Given the description of an element on the screen output the (x, y) to click on. 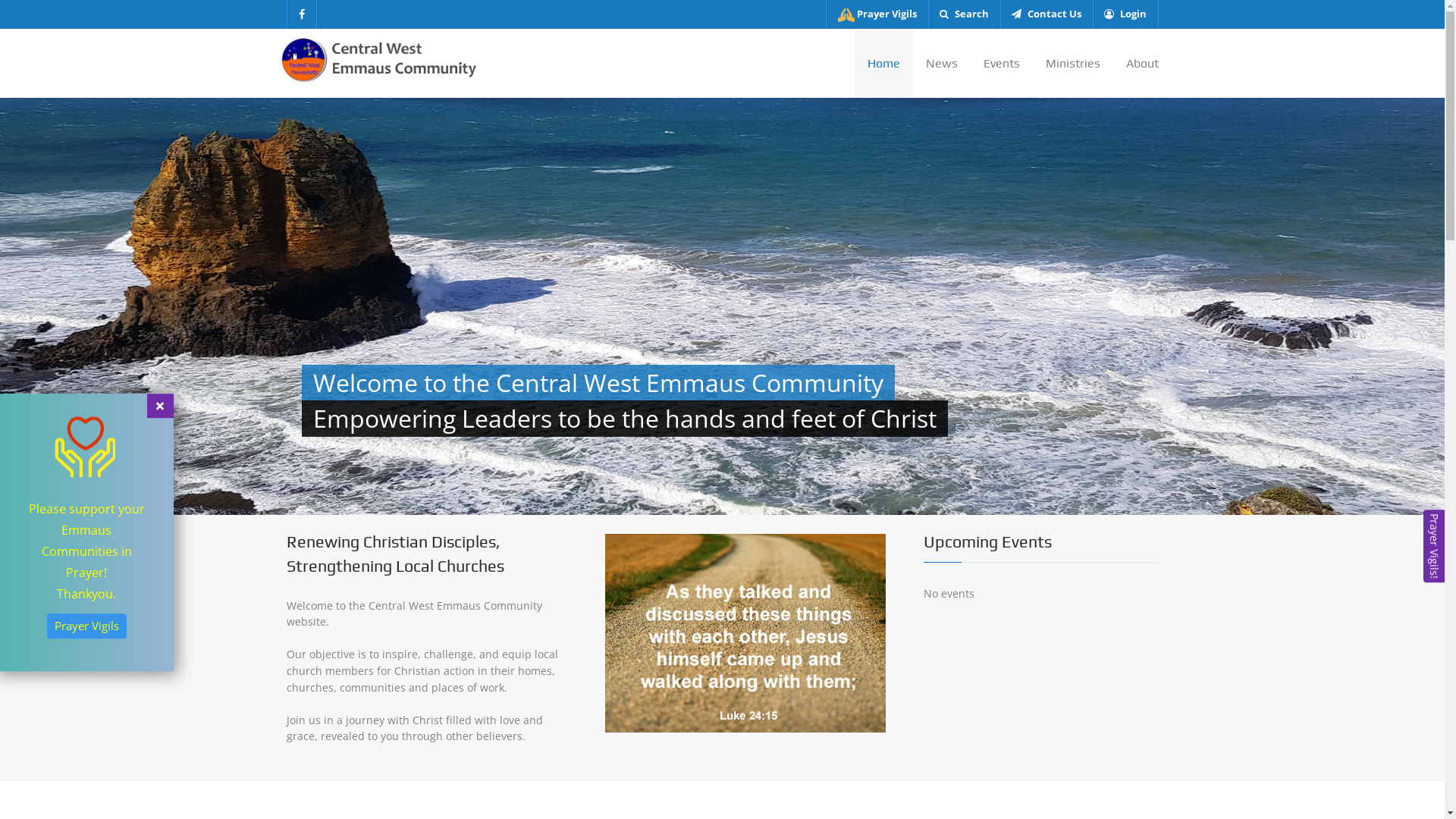
Prayer Vigils Element type: text (1027, 549)
CWEC Facebook Page Element type: text (347, 592)
Ministries Element type: text (1072, 62)
Search Element type: text (964, 14)
Home Element type: text (882, 62)
Contact the National webmaster Element type: hover (904, 782)
Login - Registered Users Element type: text (1027, 681)
Central West Facebook Page Element type: hover (301, 14)
About Element type: text (1135, 62)
Daily Reflections Element type: text (1027, 593)
Emmaus Ministries Australia Element type: text (367, 613)
News Element type: text (941, 62)
Contact Us Element type: text (1027, 615)
Prayer Vigils Element type: text (86, 625)
Login Element type: text (1124, 14)
Central West Emmaus Community Element type: hover (380, 57)
Central West Facebook Page Element type: hover (1144, 782)
Events Element type: text (1001, 62)
Prayer Vigils Element type: text (877, 14)
General Enquiry Element type: text (336, 570)
Contact Us Element type: text (1045, 14)
Australian Emmaus Communities Element type: text (1027, 571)
Privacy Policy Element type: text (1027, 637)
Terms & Conditions Element type: text (1027, 659)
